Given the description of an element on the screen output the (x, y) to click on. 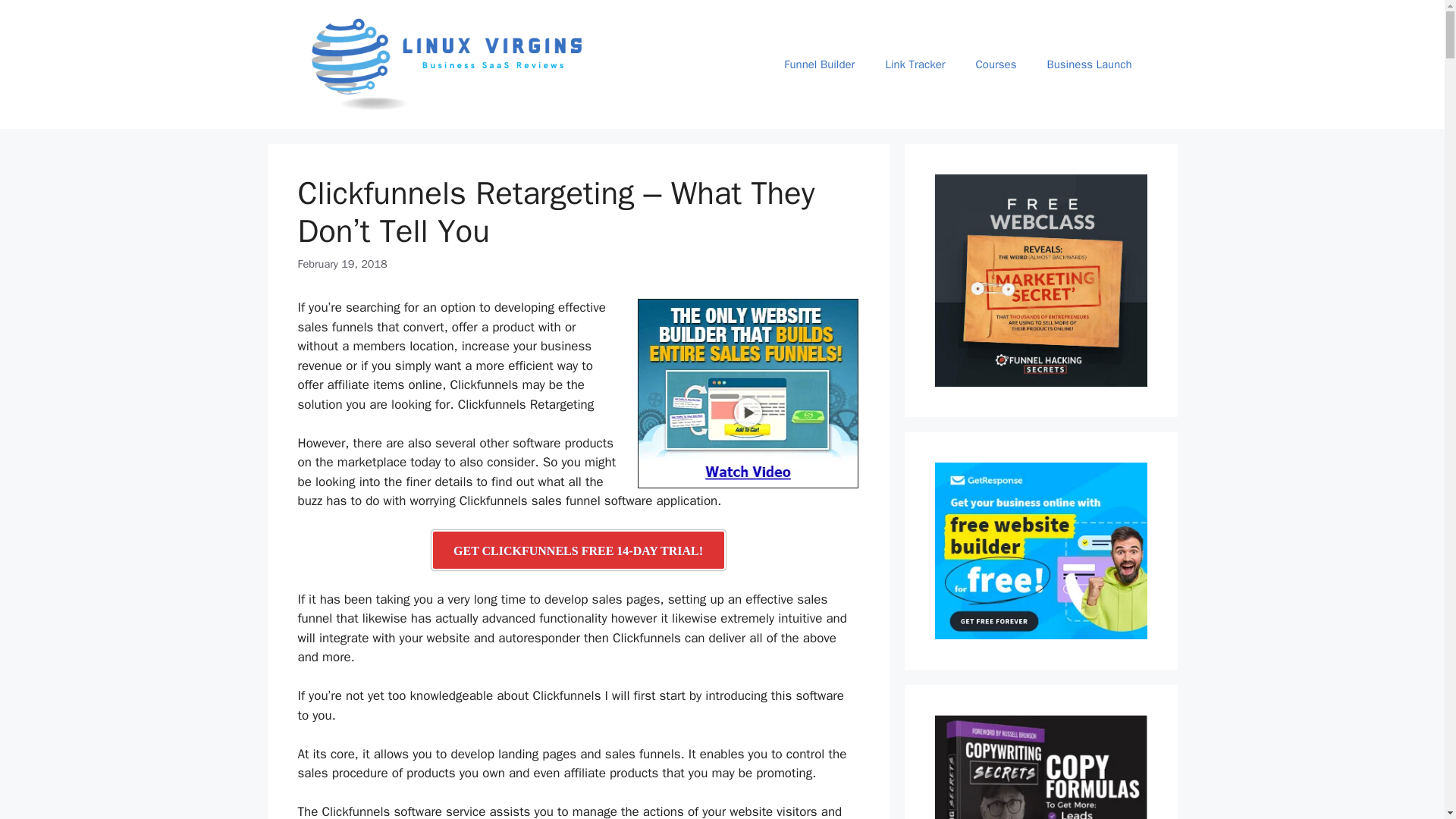
Funnel Builder (818, 63)
Business Launch (1088, 63)
GET CLICKFUNNELS FREE 14-DAY TRIAL! (577, 549)
Link Tracker (914, 63)
Courses (996, 63)
